Given the description of an element on the screen output the (x, y) to click on. 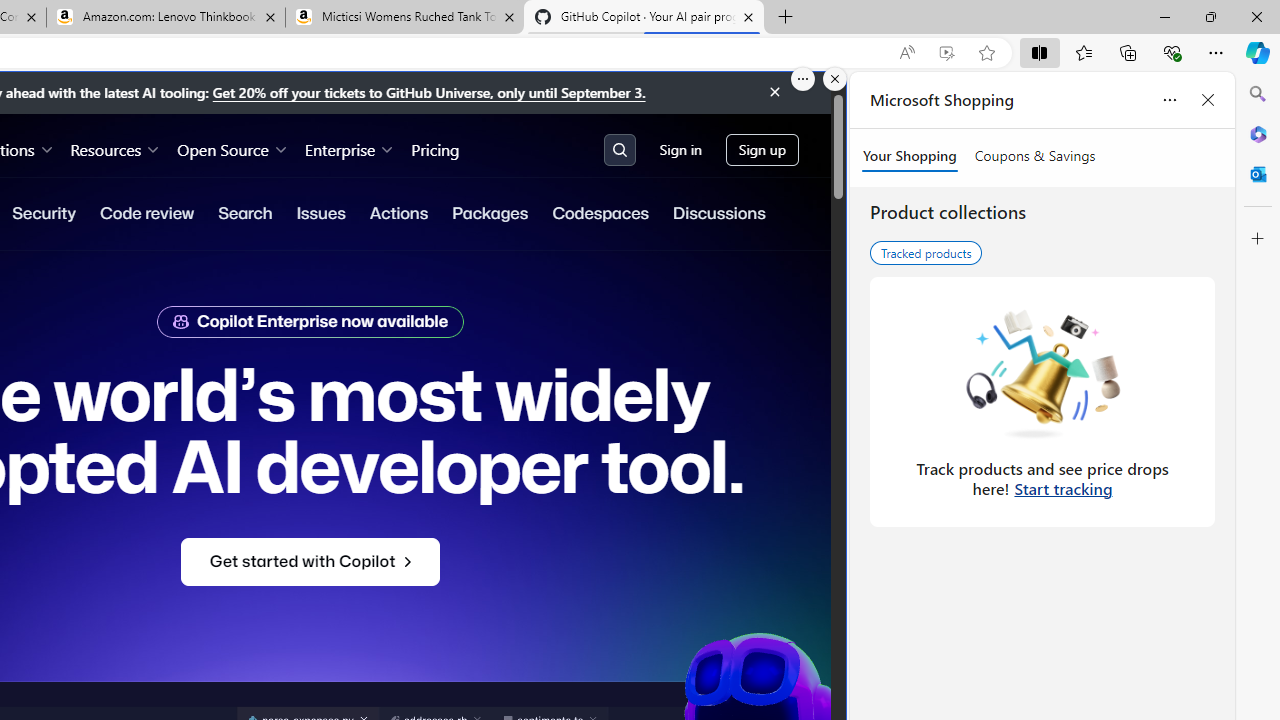
Resources (115, 148)
Sign in (680, 149)
Pricing (435, 148)
Actions (398, 213)
Enterprise (349, 148)
Enterprise (349, 148)
Pricing (435, 148)
Open Source (232, 148)
